Given the description of an element on the screen output the (x, y) to click on. 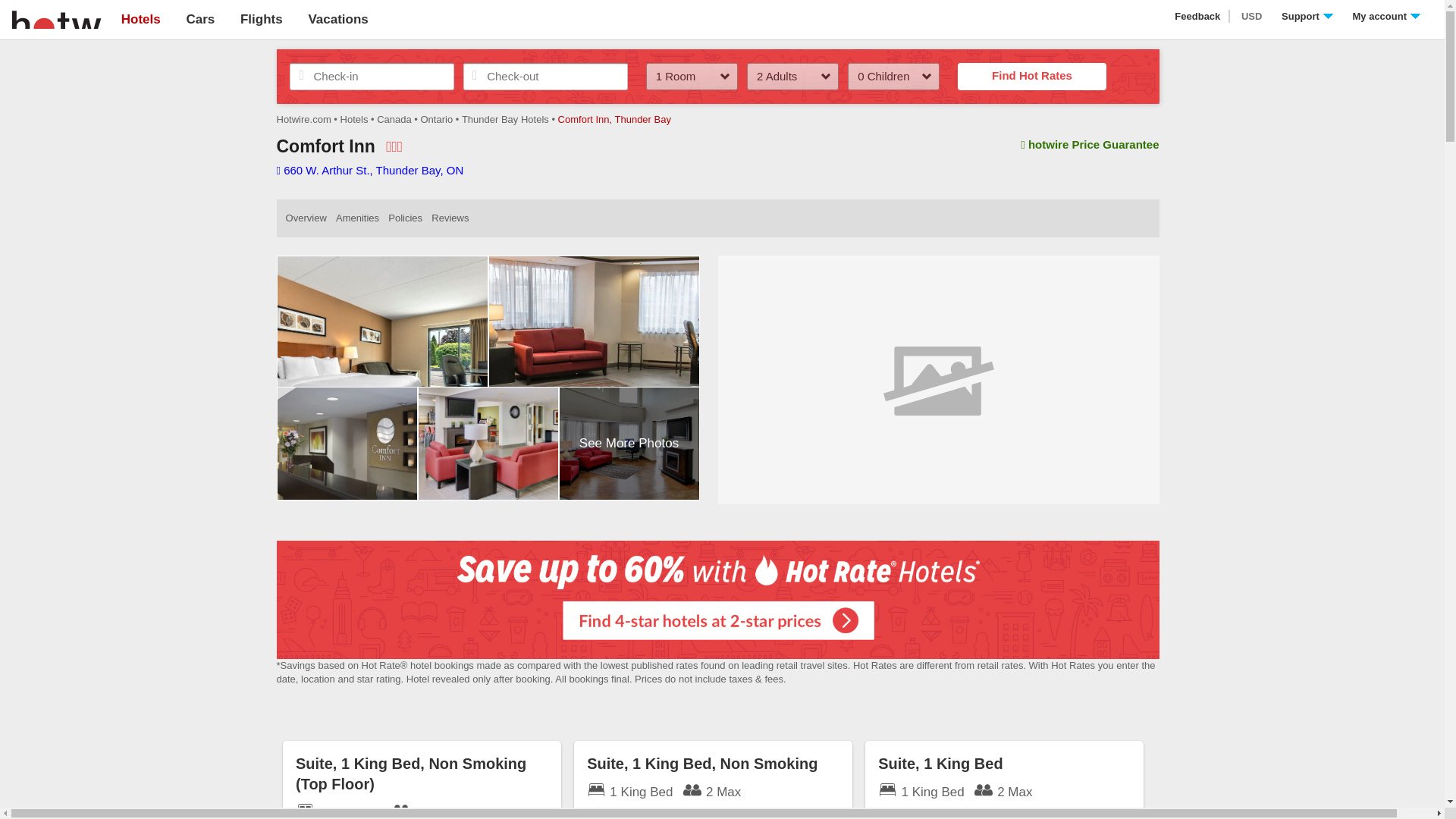
Cars (200, 19)
Hotwire (56, 18)
Feedback (1198, 16)
2.5 (394, 146)
Support (1307, 16)
Flights (261, 19)
My account (1386, 16)
Hotels (140, 19)
Vacations (337, 19)
